Given the description of an element on the screen output the (x, y) to click on. 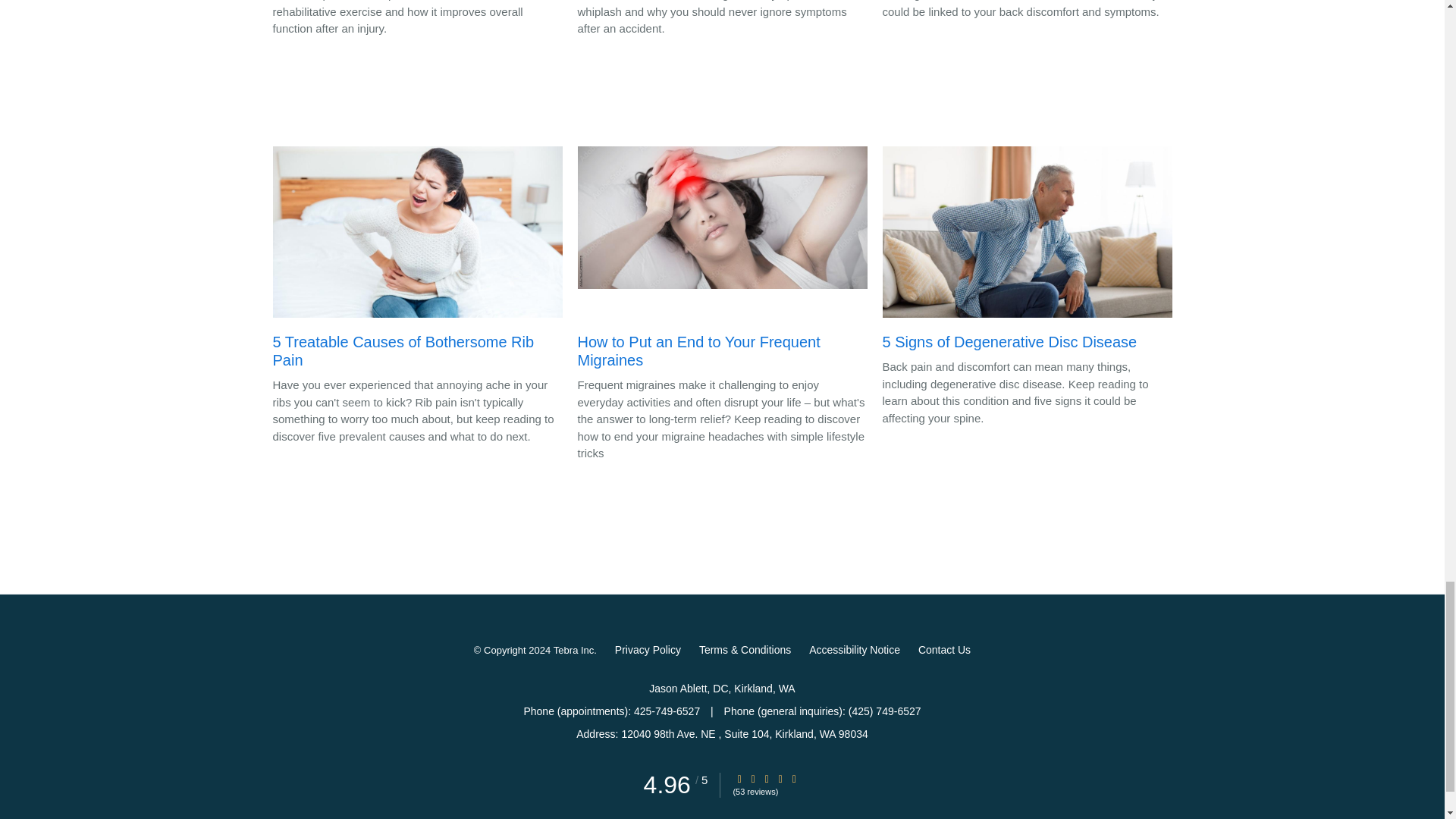
Privacy Policy (647, 649)
5 Signs of Degenerative Disc Disease (1027, 252)
Star Rating (766, 778)
Star Rating (753, 778)
Tebra Inc (573, 650)
Star Rating (780, 778)
Star Rating (738, 778)
How to Put an End to Your Frequent Migraines (722, 261)
5 Treatable Causes of Bothersome Rib Pain (417, 261)
Star Rating (794, 778)
